Given the description of an element on the screen output the (x, y) to click on. 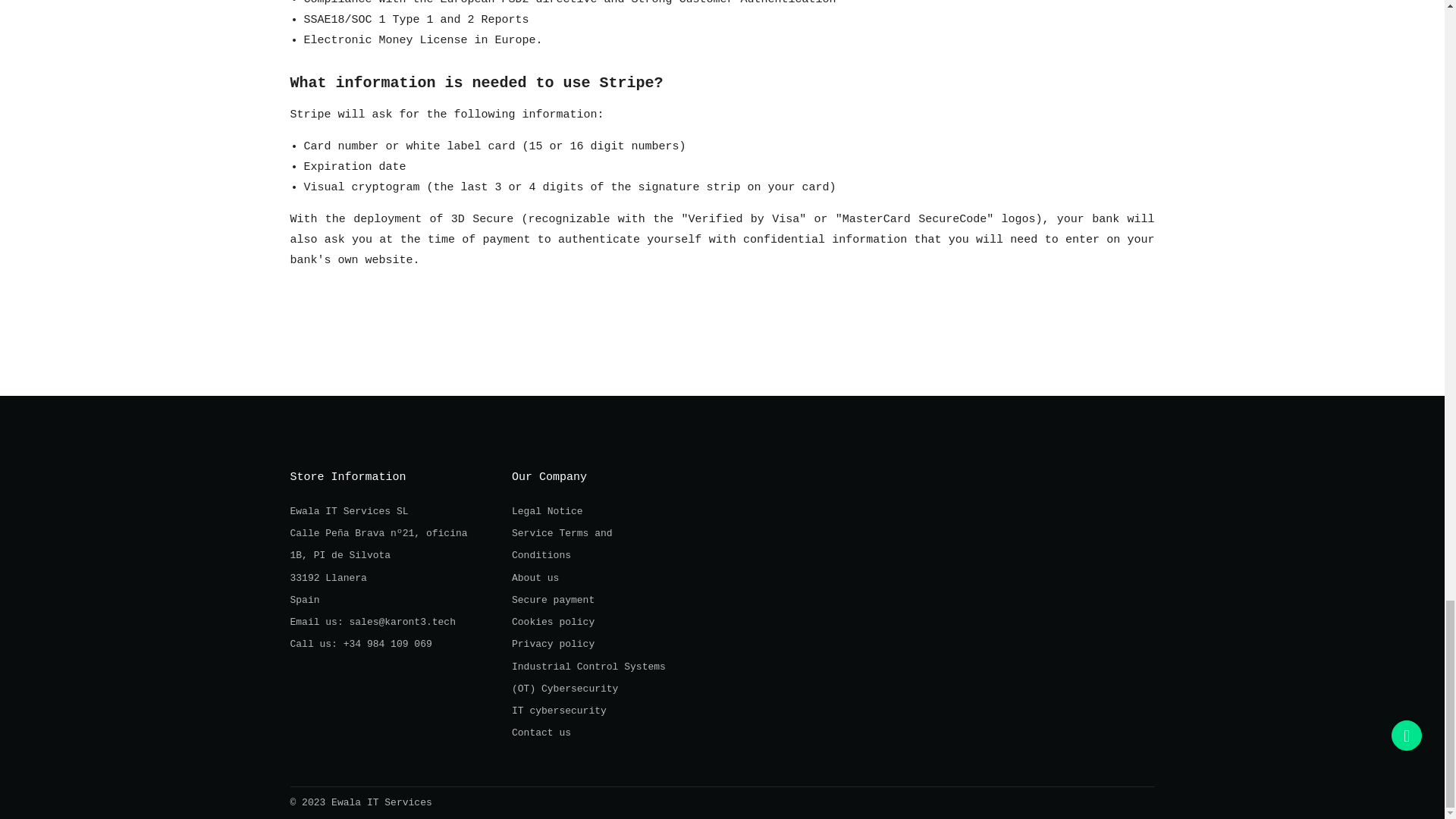
Our secure payment method (553, 600)
Contact us (359, 644)
Cookies policy (553, 622)
Use our form to contact us (541, 732)
Service Terms and Conditions (562, 544)
IT cybersecurity (559, 710)
Legal Notice (547, 511)
Privacy policy (553, 644)
Secure payment (553, 600)
Learn more about us (535, 577)
Contact us (371, 622)
About us (535, 577)
Legal Notice (547, 511)
